Given the description of an element on the screen output the (x, y) to click on. 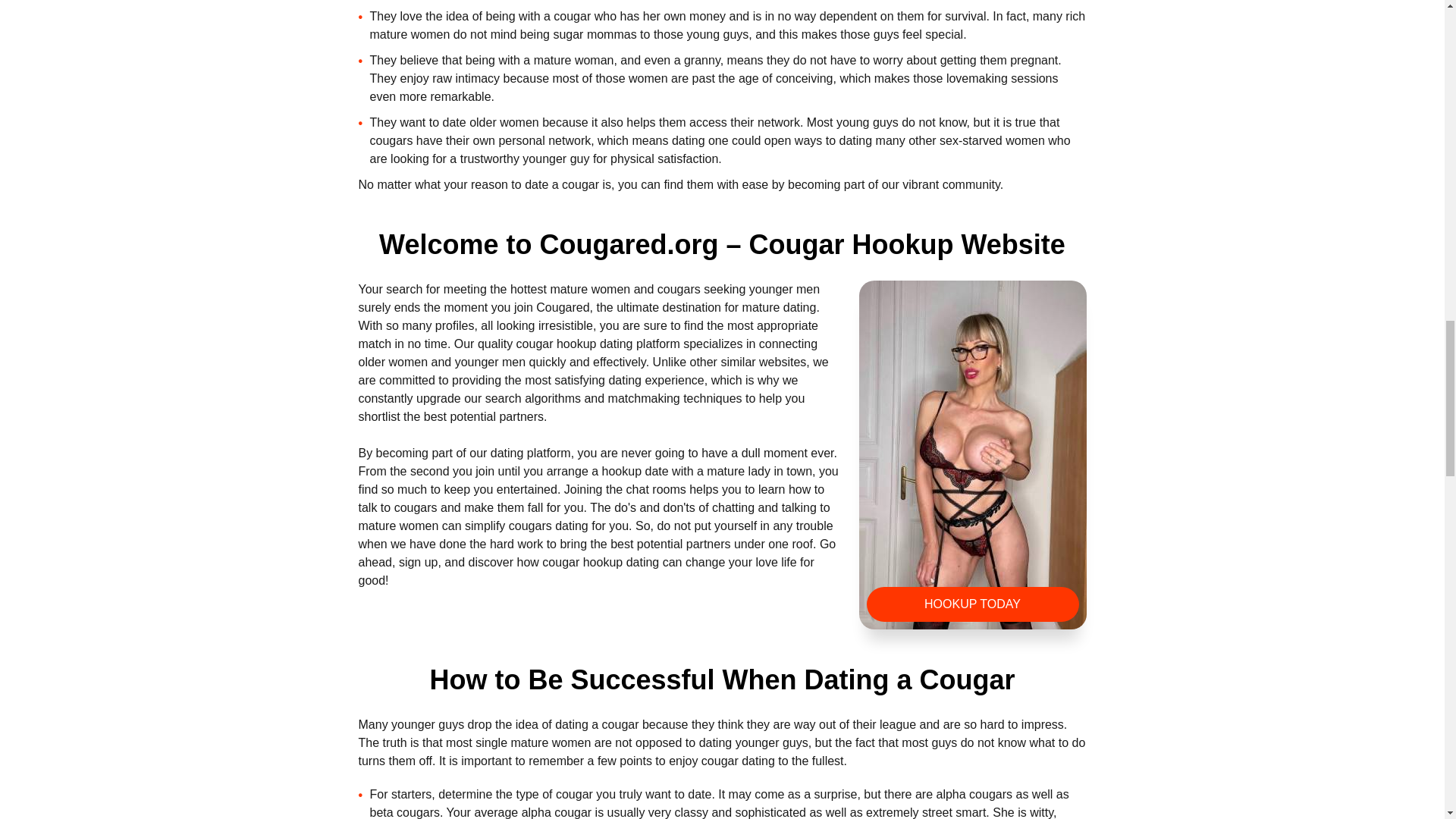
HOOKUP TODAY (972, 604)
